Given the description of an element on the screen output the (x, y) to click on. 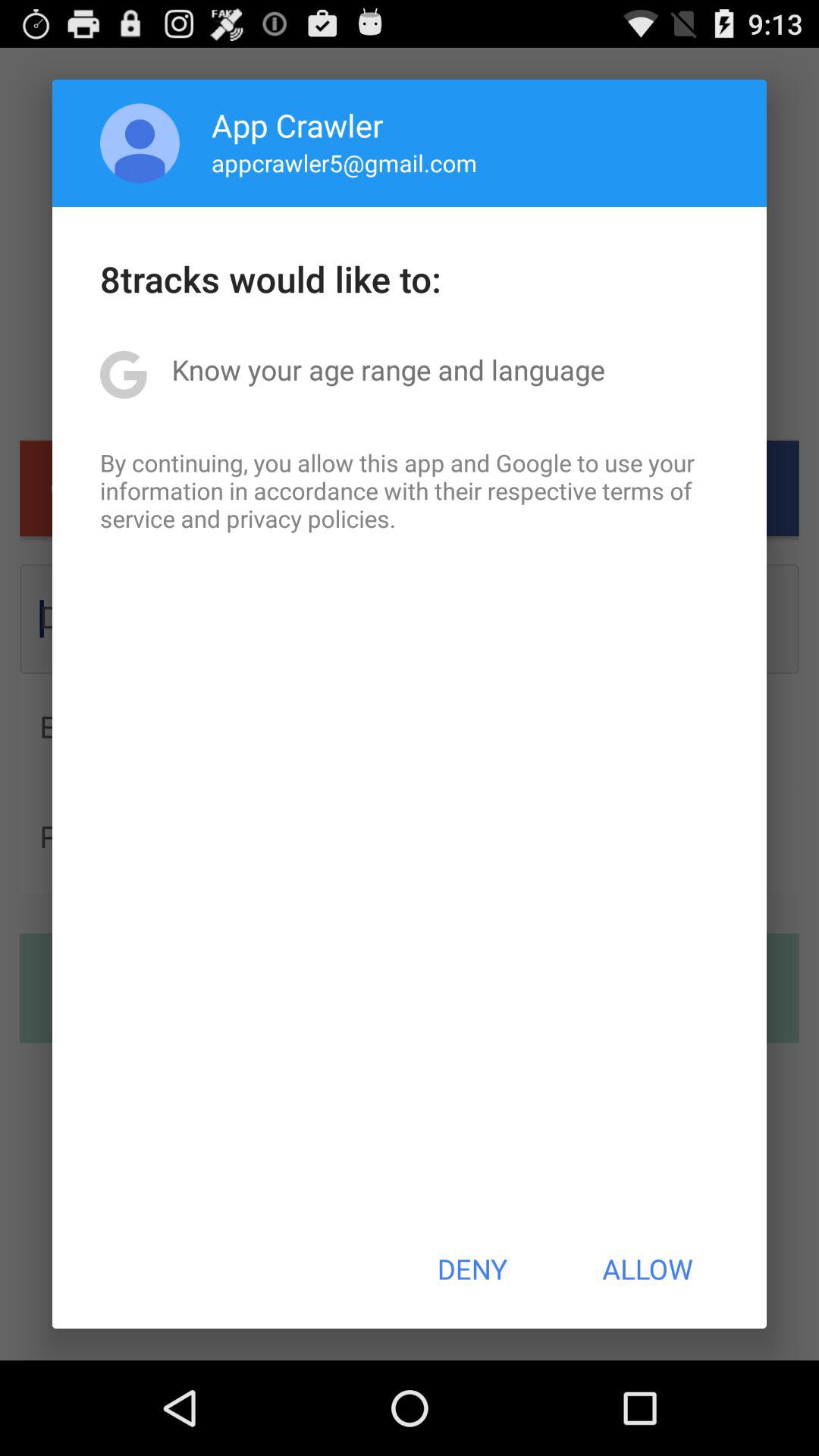
turn off the item below 8tracks would like app (388, 369)
